Given the description of an element on the screen output the (x, y) to click on. 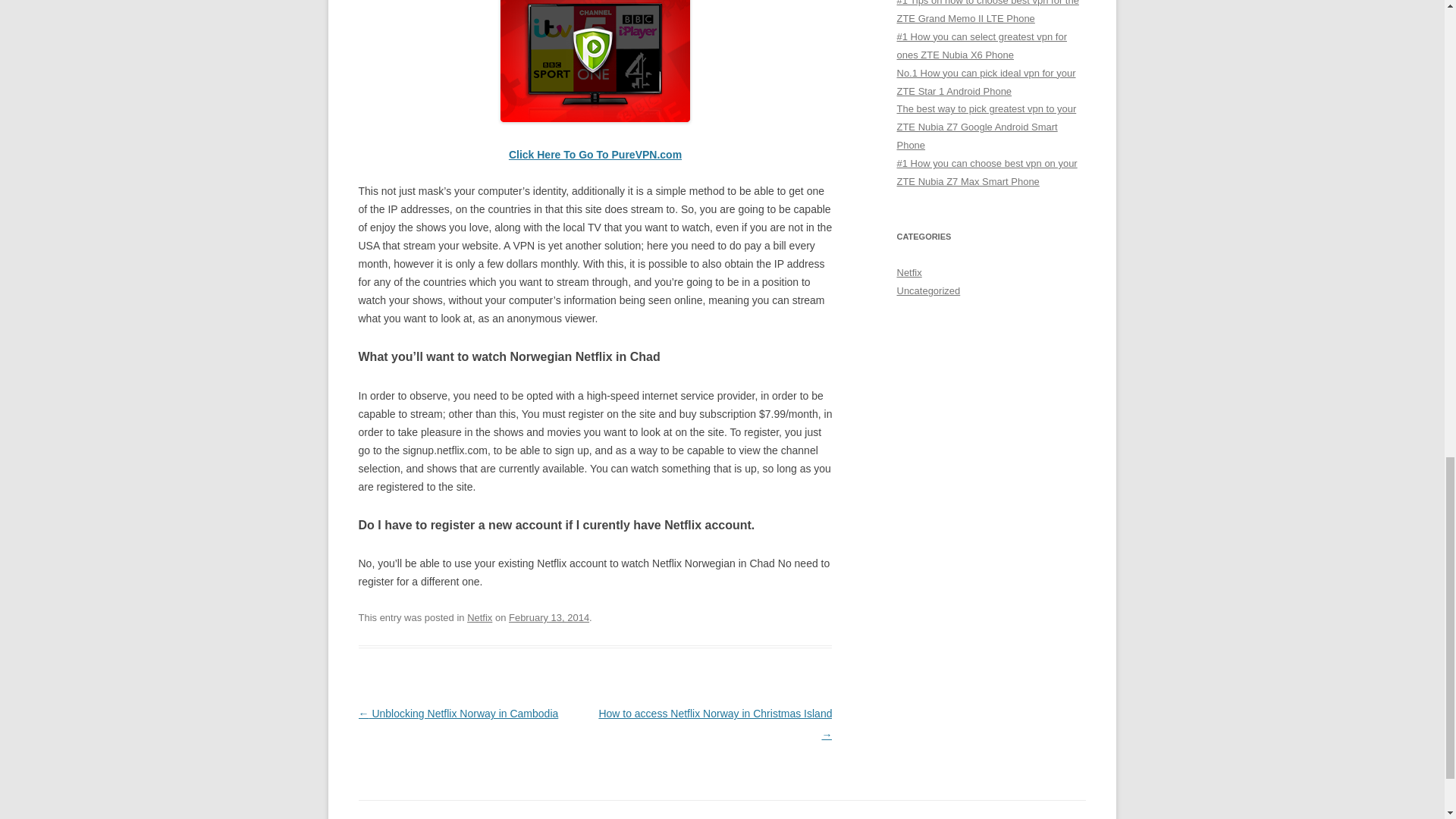
Click Here To Go To PureVPN.com (594, 154)
9:53 pm (548, 617)
Netfix (908, 272)
February 13, 2014 (548, 617)
Netfix (479, 617)
